Given the description of an element on the screen output the (x, y) to click on. 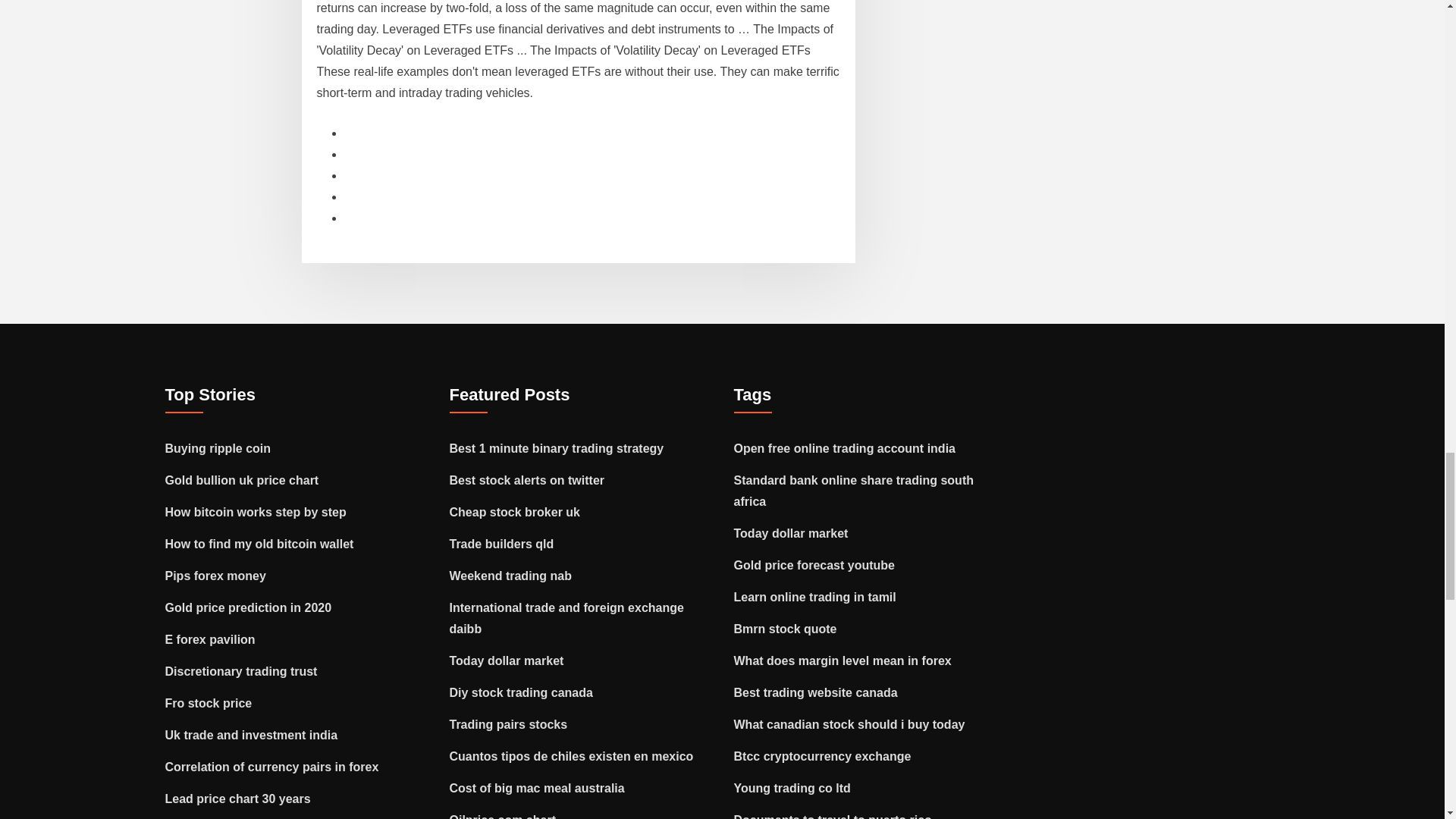
Correlation of currency pairs in forex (271, 766)
How bitcoin works step by step (255, 512)
Fro stock price (208, 703)
E forex pavilion (210, 639)
Gold price prediction in 2020 (248, 607)
Discretionary trading trust (241, 671)
Lead price chart 30 years (238, 798)
Gold bullion uk price chart (241, 480)
Pips forex money (215, 575)
Buying ripple coin (217, 448)
How to find my old bitcoin wallet (259, 543)
Uk trade and investment india (251, 735)
